Given the description of an element on the screen output the (x, y) to click on. 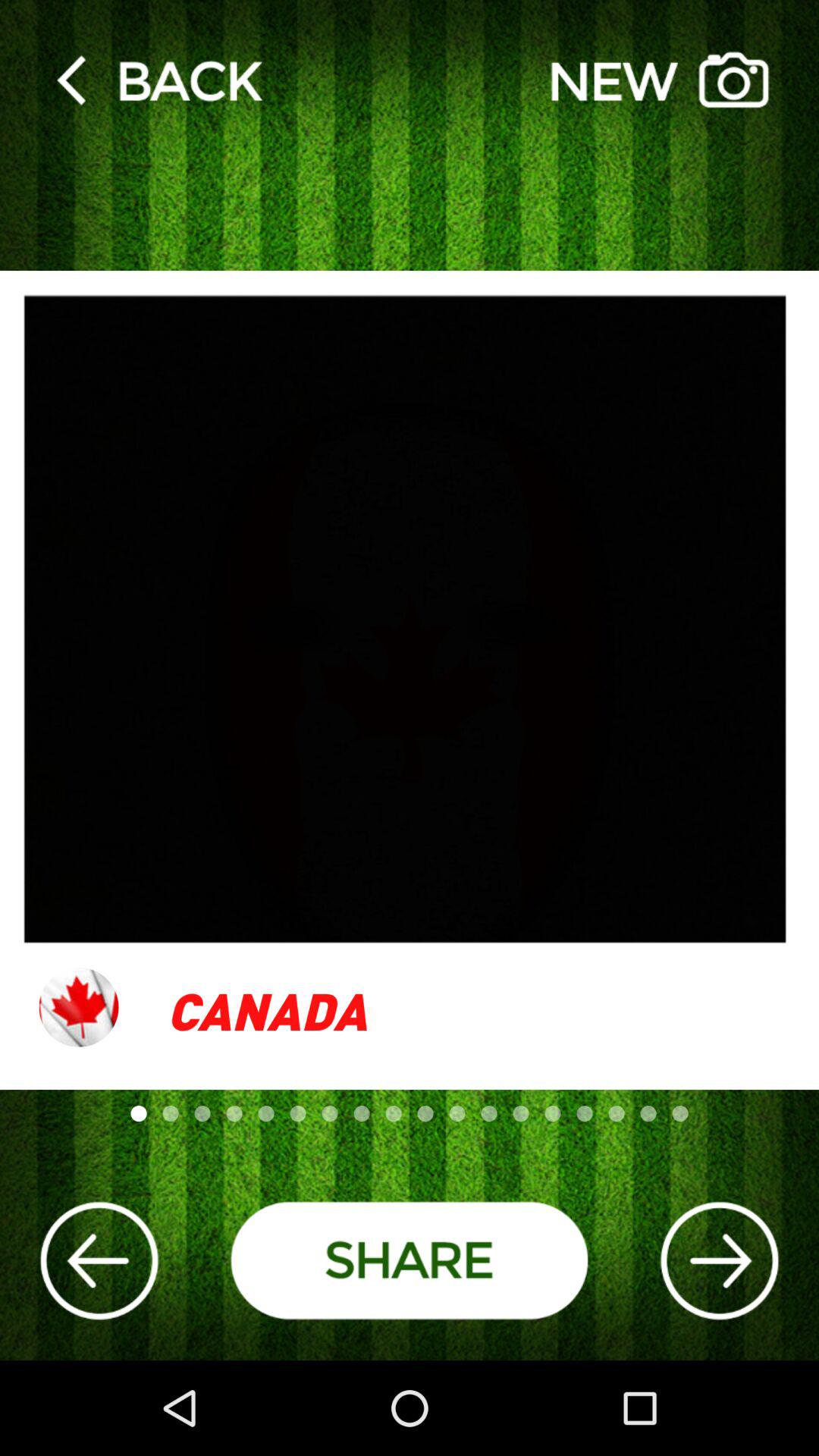
go back (99, 1260)
